Given the description of an element on the screen output the (x, y) to click on. 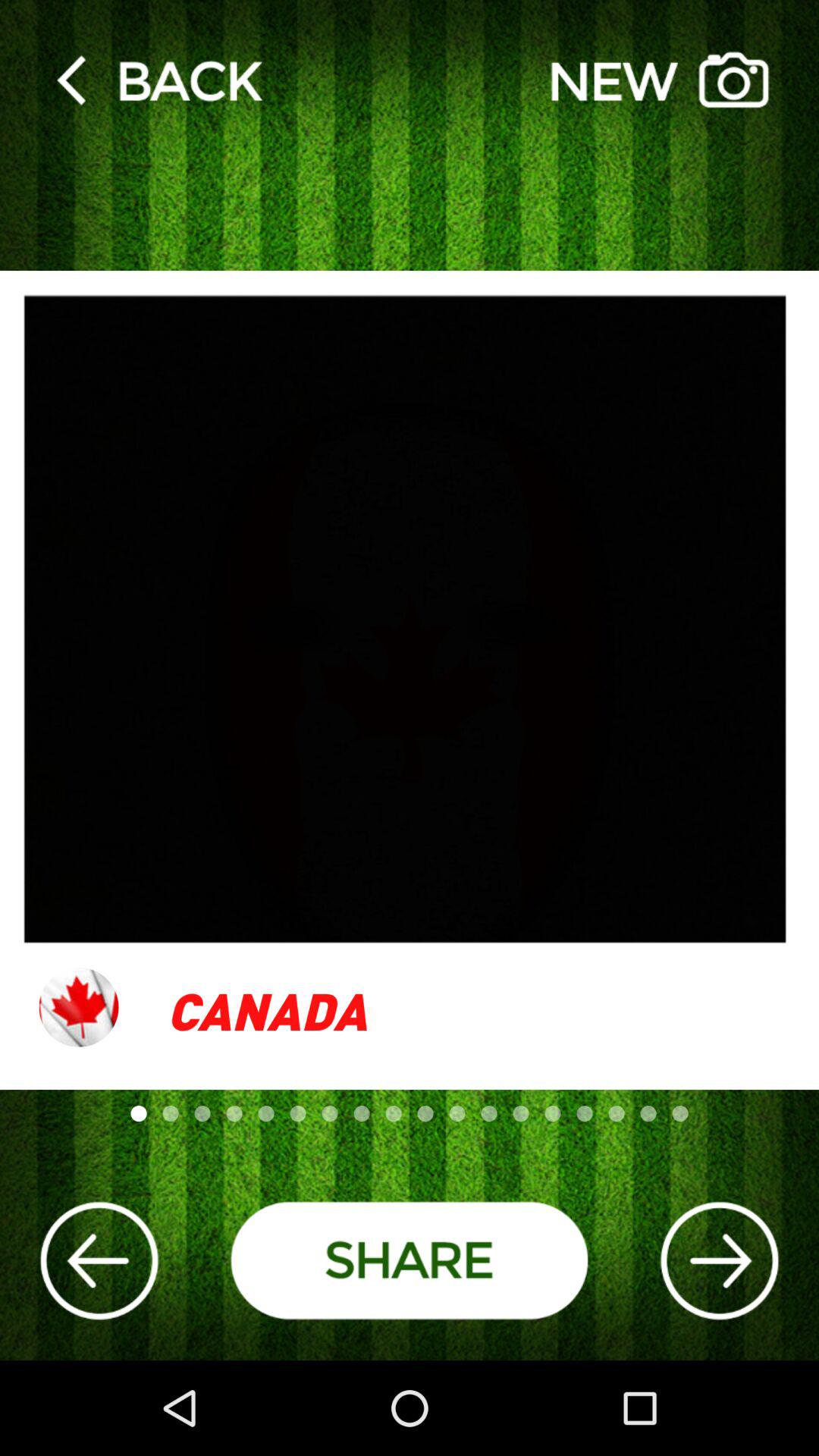
go back (99, 1260)
